Given the description of an element on the screen output the (x, y) to click on. 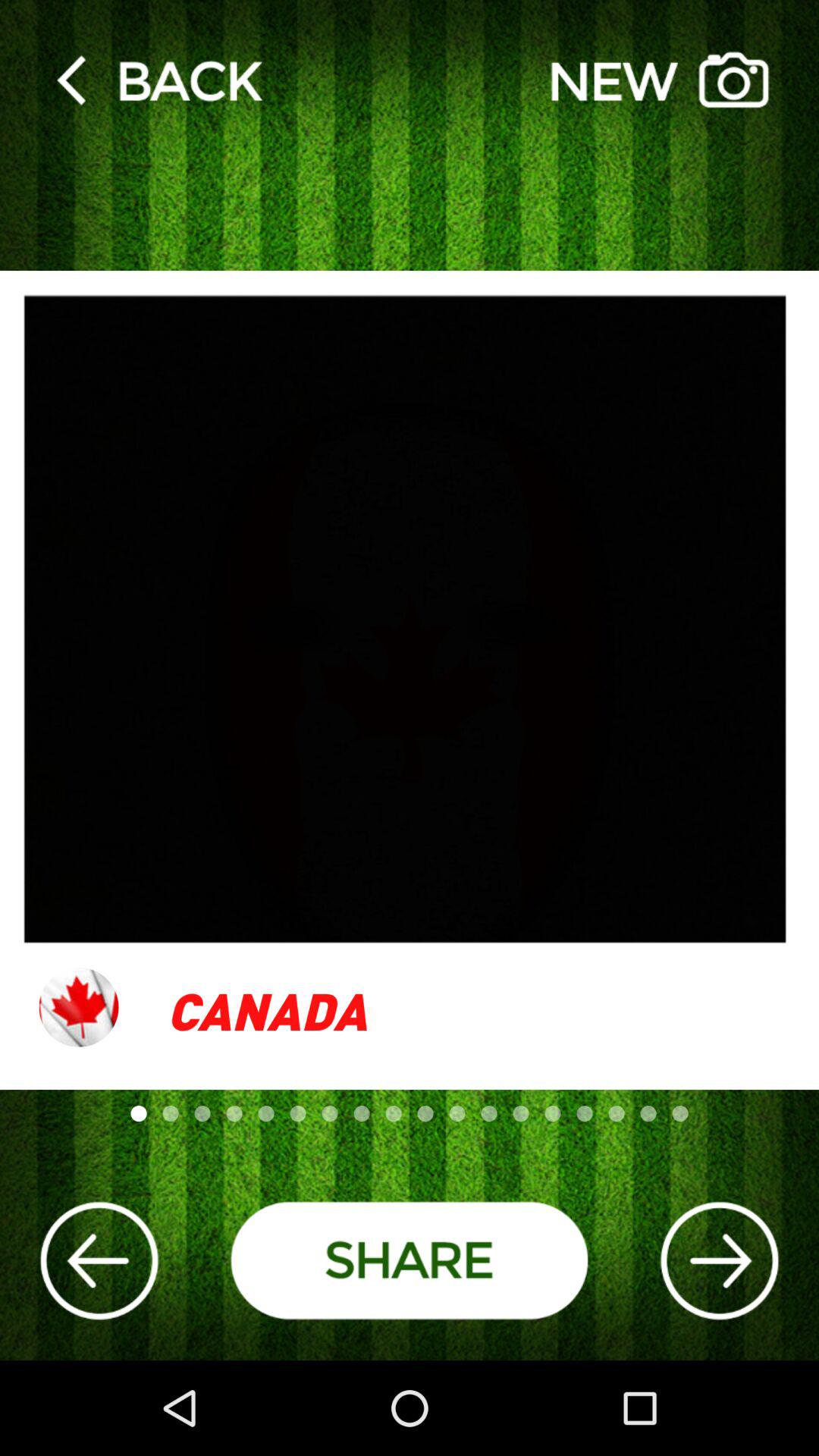
go back (99, 1260)
